Given the description of an element on the screen output the (x, y) to click on. 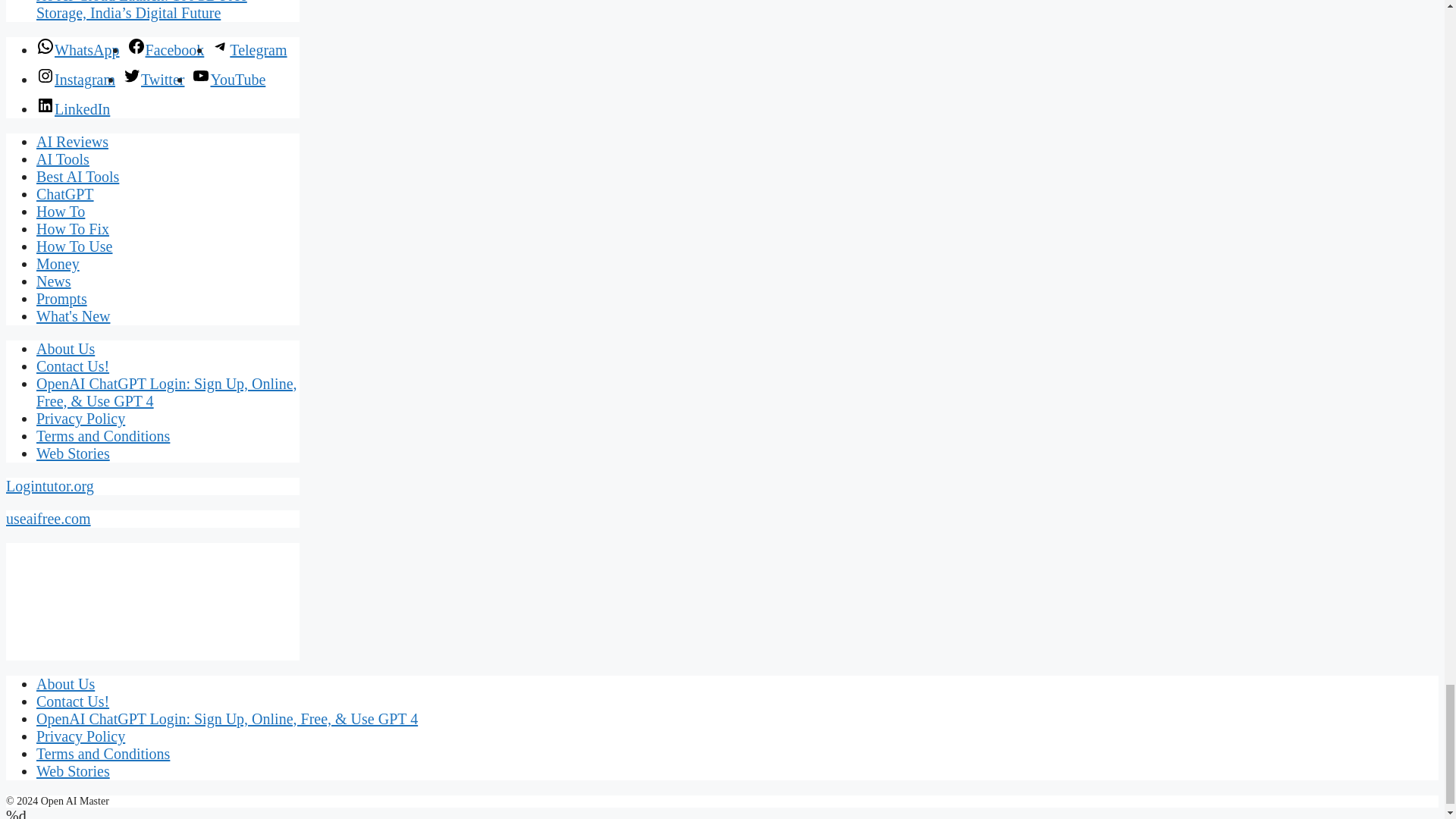
WhatsApp (77, 49)
Facebook (166, 49)
Telegram (248, 49)
Instagram (75, 79)
Twitter (153, 79)
